Given the description of an element on the screen output the (x, y) to click on. 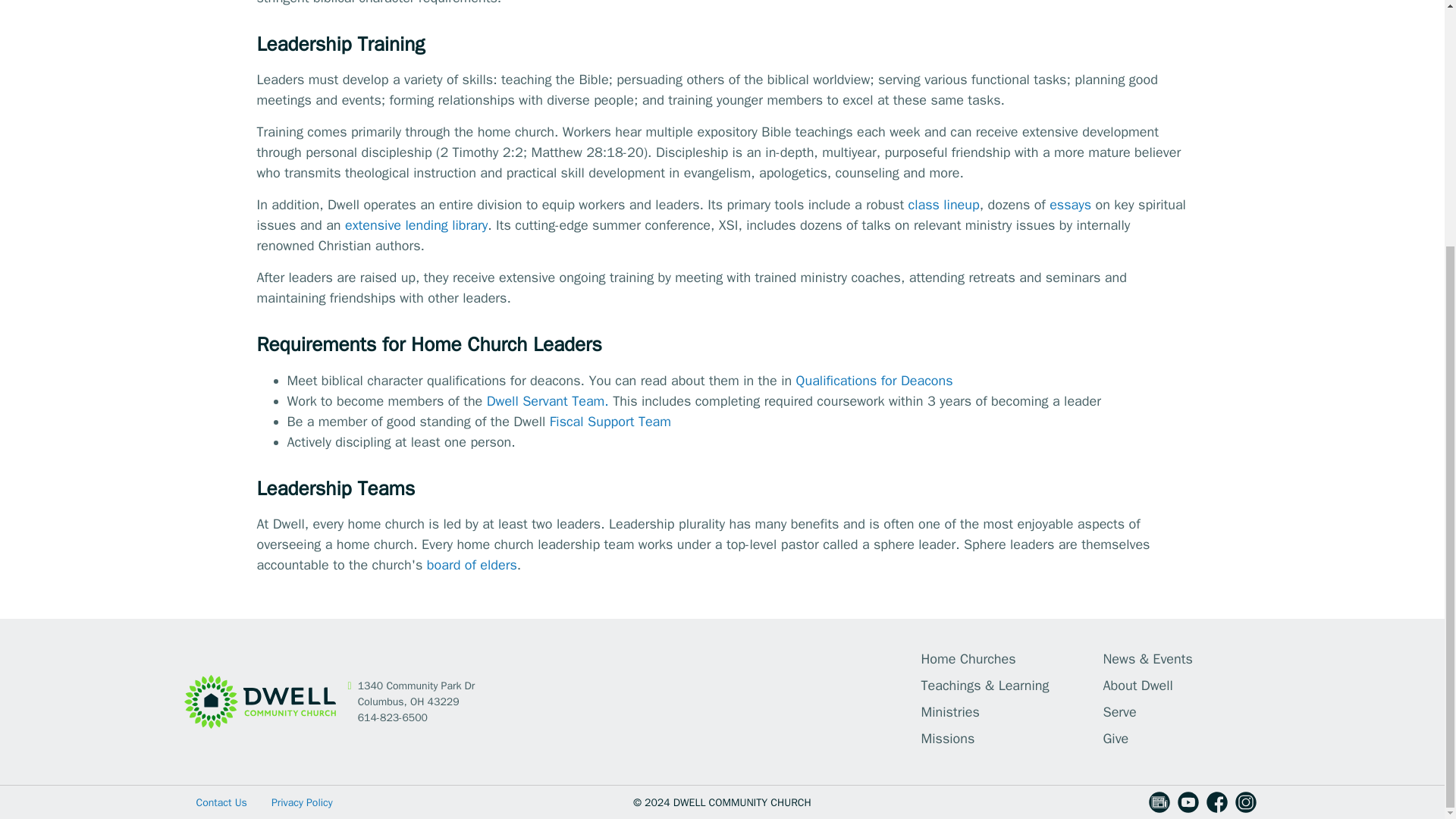
Newsletter (1159, 807)
